Given the description of an element on the screen output the (x, y) to click on. 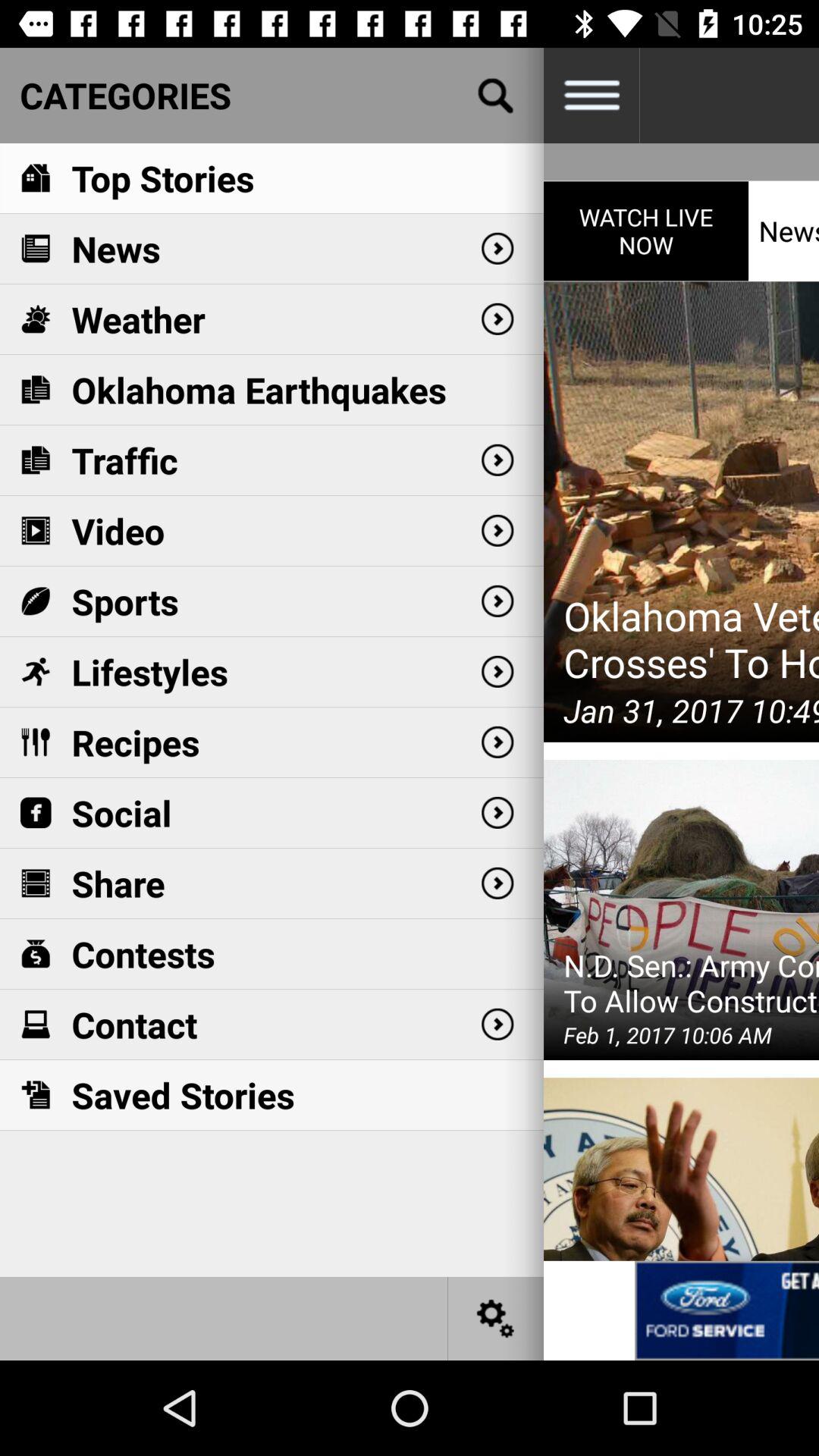
search (495, 95)
